Given the description of an element on the screen output the (x, y) to click on. 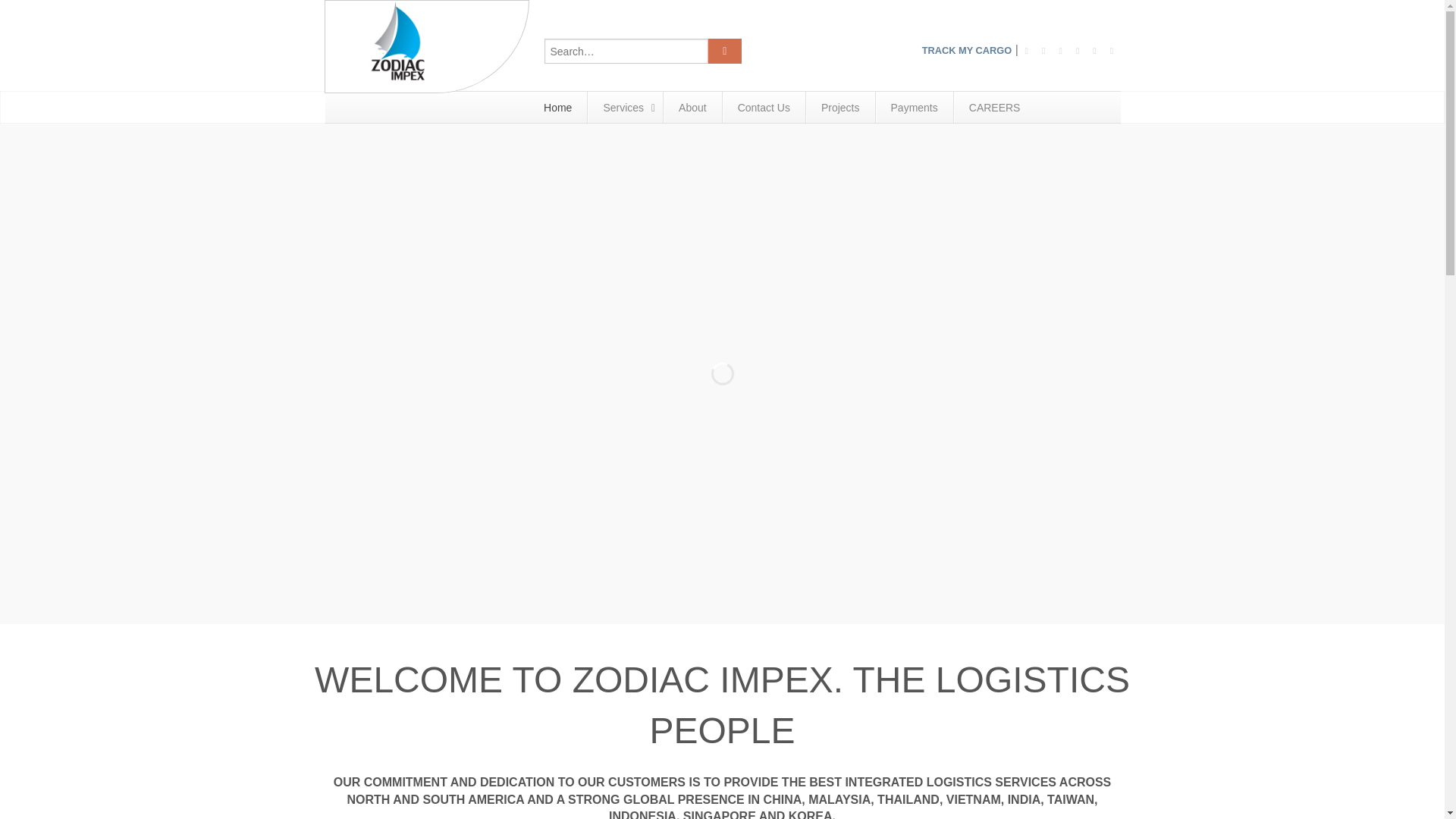
About (692, 106)
Contact Us (763, 106)
Zodiac Impex -  (426, 46)
Projects (840, 106)
Home (557, 106)
CAREERS (994, 106)
TRACK MY CARGO (966, 51)
Services (624, 106)
Payments (914, 106)
